Given the description of an element on the screen output the (x, y) to click on. 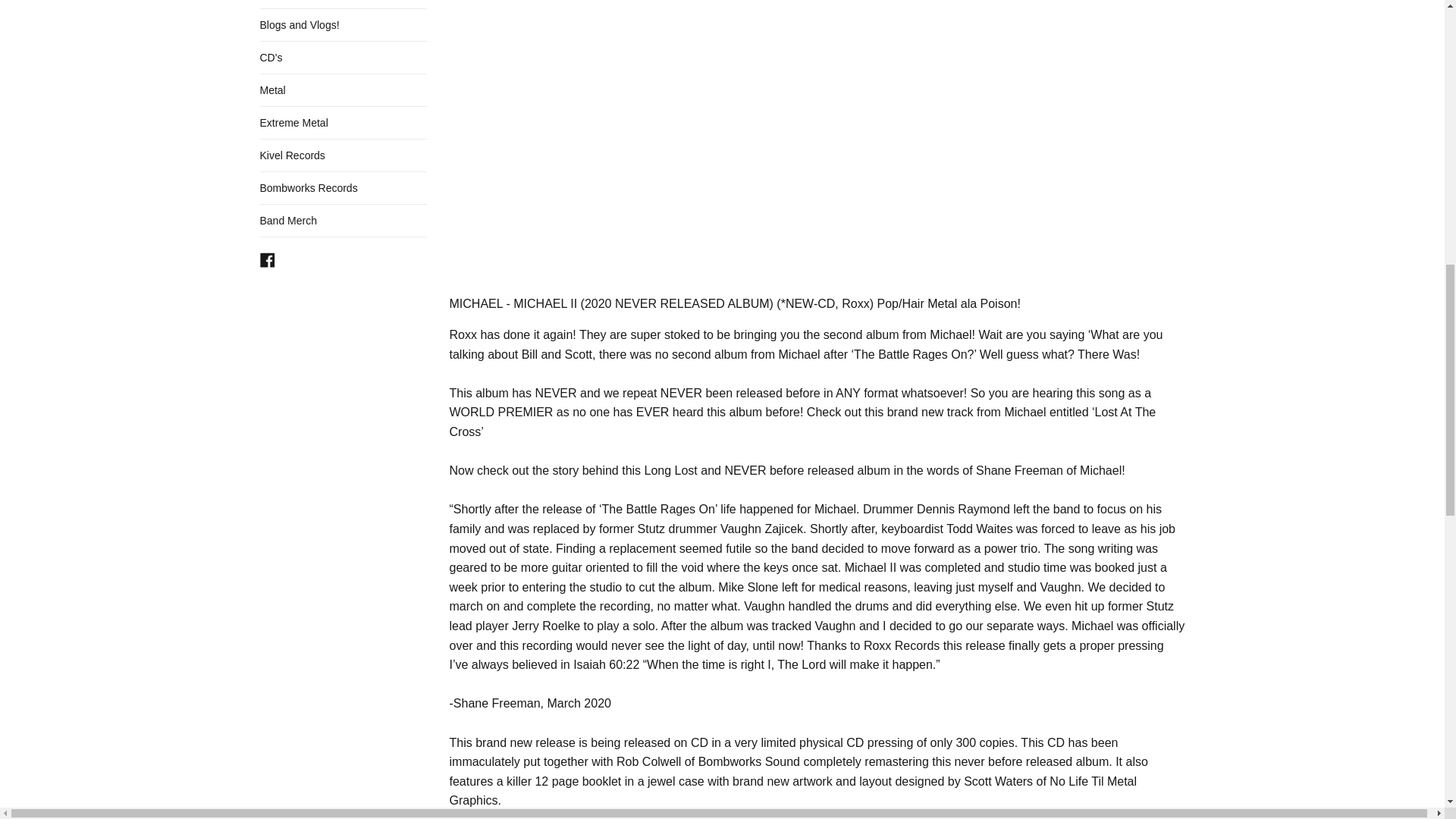
Retroactive Records (342, 4)
Facebook (267, 258)
Extreme Metal (342, 122)
Band Merch (342, 220)
Metal (342, 90)
Bombworks Records (342, 187)
Boone's Overstock on Facebook (267, 258)
Kivel Records (342, 155)
CD's (342, 57)
Blogs and Vlogs! (342, 24)
